Given the description of an element on the screen output the (x, y) to click on. 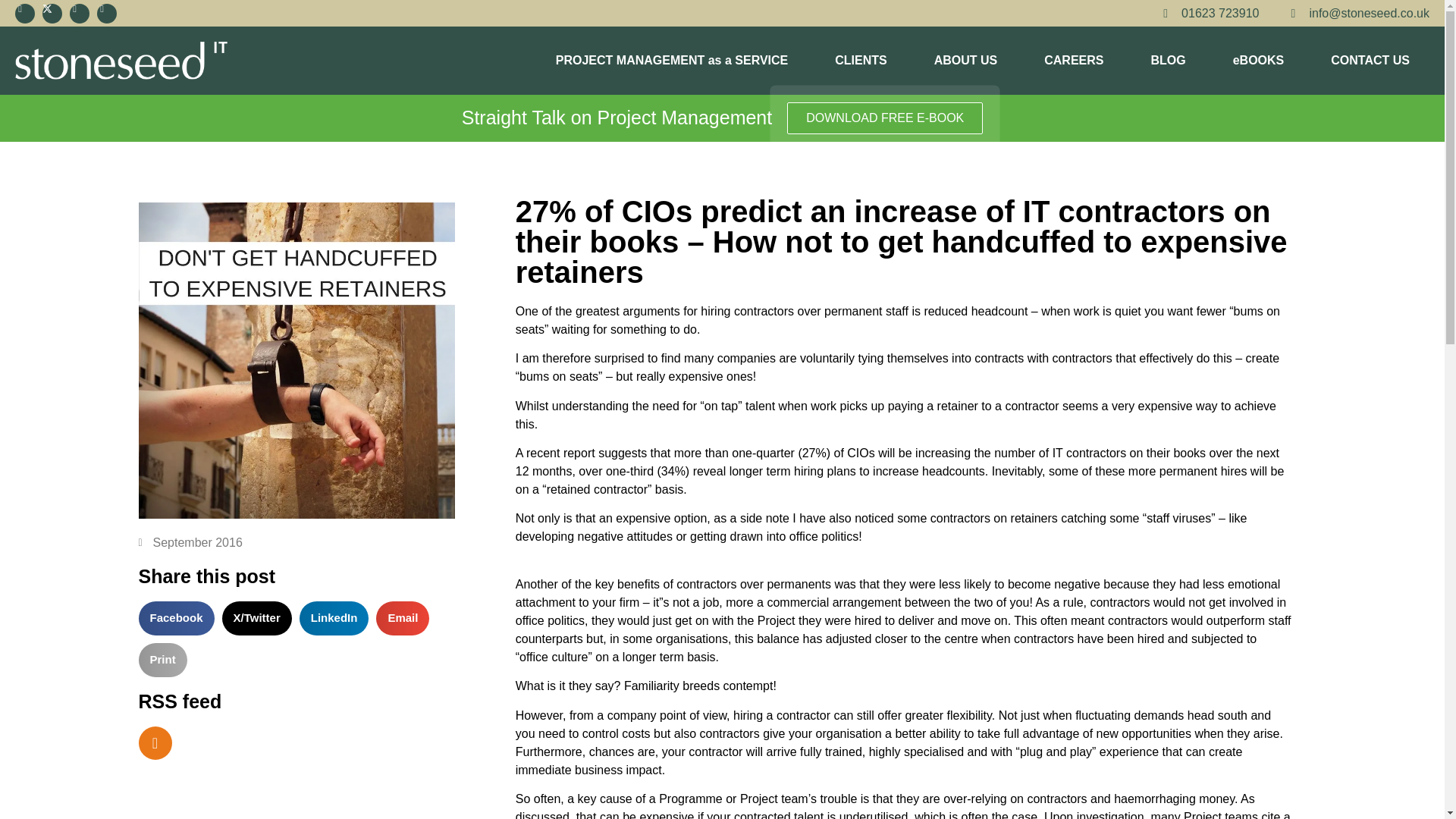
01623 723910 (1206, 13)
PROJECT MANAGEMENT as a SERVICE (671, 60)
ABOUT US (965, 60)
CONTACT US (1370, 60)
eBOOKS (1258, 60)
CAREERS (1073, 60)
BLOG (1168, 60)
CLIENTS (860, 60)
